Given the description of an element on the screen output the (x, y) to click on. 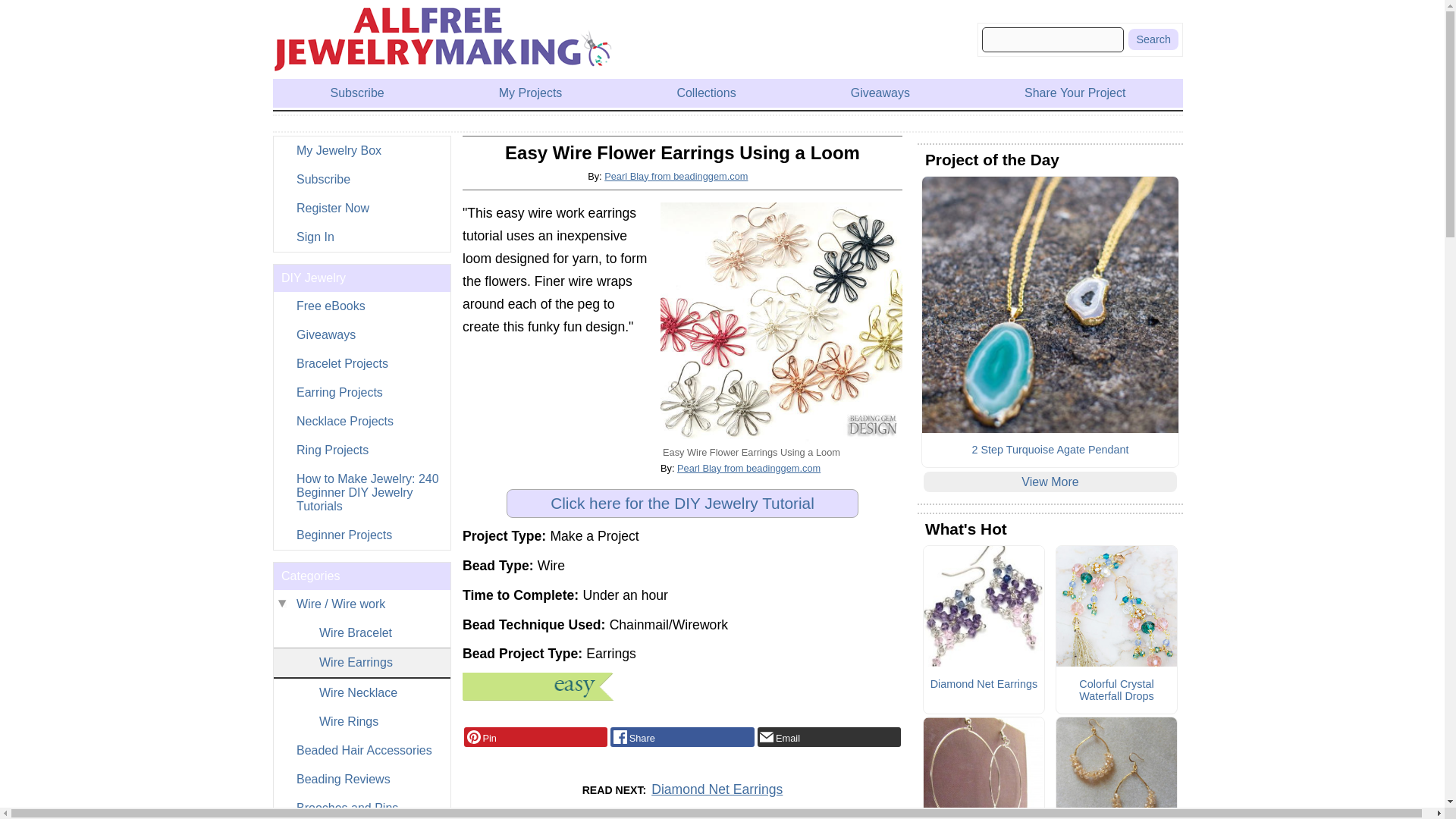
Register Now (361, 208)
Facebook (682, 736)
Easy Wire Flower Earrings Using a Loom (781, 323)
Search (1152, 38)
Subscribe (361, 179)
My Jewelry Box (361, 150)
Email (829, 736)
Sign In (361, 236)
